Given the description of an element on the screen output the (x, y) to click on. 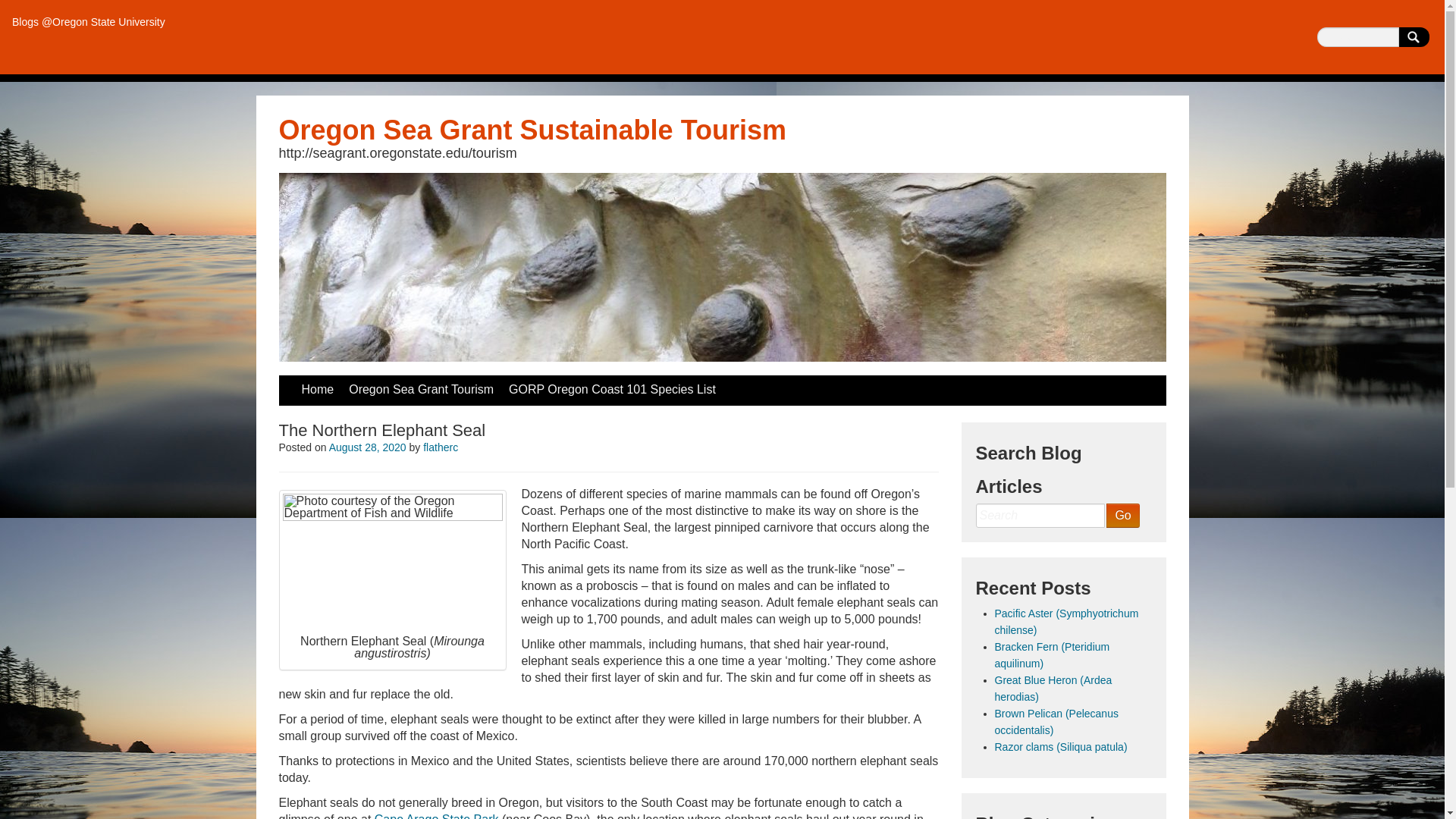
View all posts by flatherc (440, 447)
Skip to primary content (341, 383)
Skip to secondary content (349, 383)
Oregon Sea Grant Tourism (420, 389)
GORP Oregon Coast 101 Species List (611, 389)
August 28, 2020 (367, 447)
Skip to primary content (341, 383)
Home (318, 389)
Go (1122, 515)
5:20 am (367, 447)
